Given the description of an element on the screen output the (x, y) to click on. 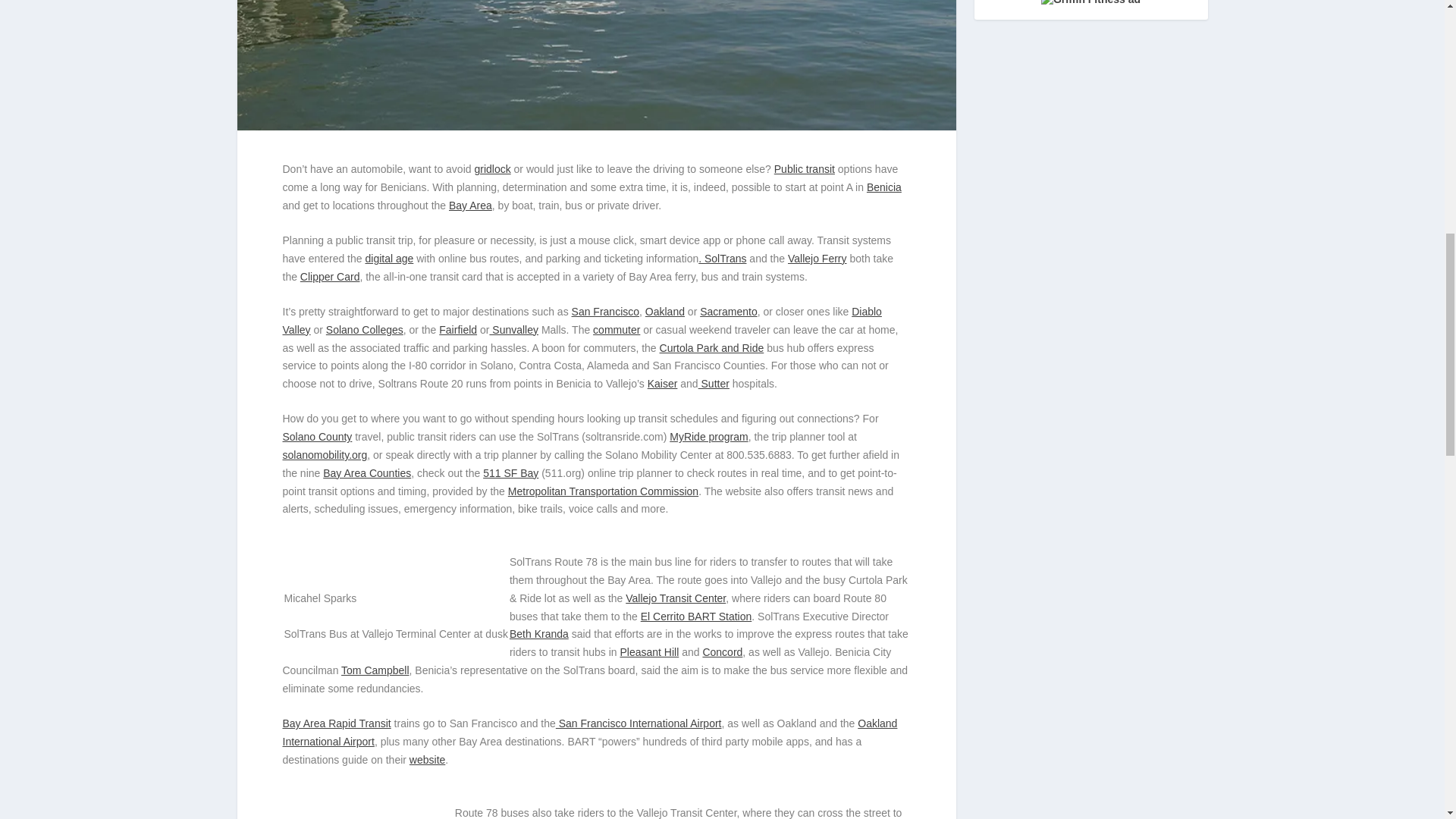
San Francisco (605, 311)
Public transit (804, 168)
Diablo Valley (581, 320)
Vallejo Ferry (817, 258)
Clipper Card (329, 276)
Sacramento (728, 311)
gridlock (492, 168)
Solano Colleges (364, 329)
Benicia (883, 186)
digital age (389, 258)
